Given the description of an element on the screen output the (x, y) to click on. 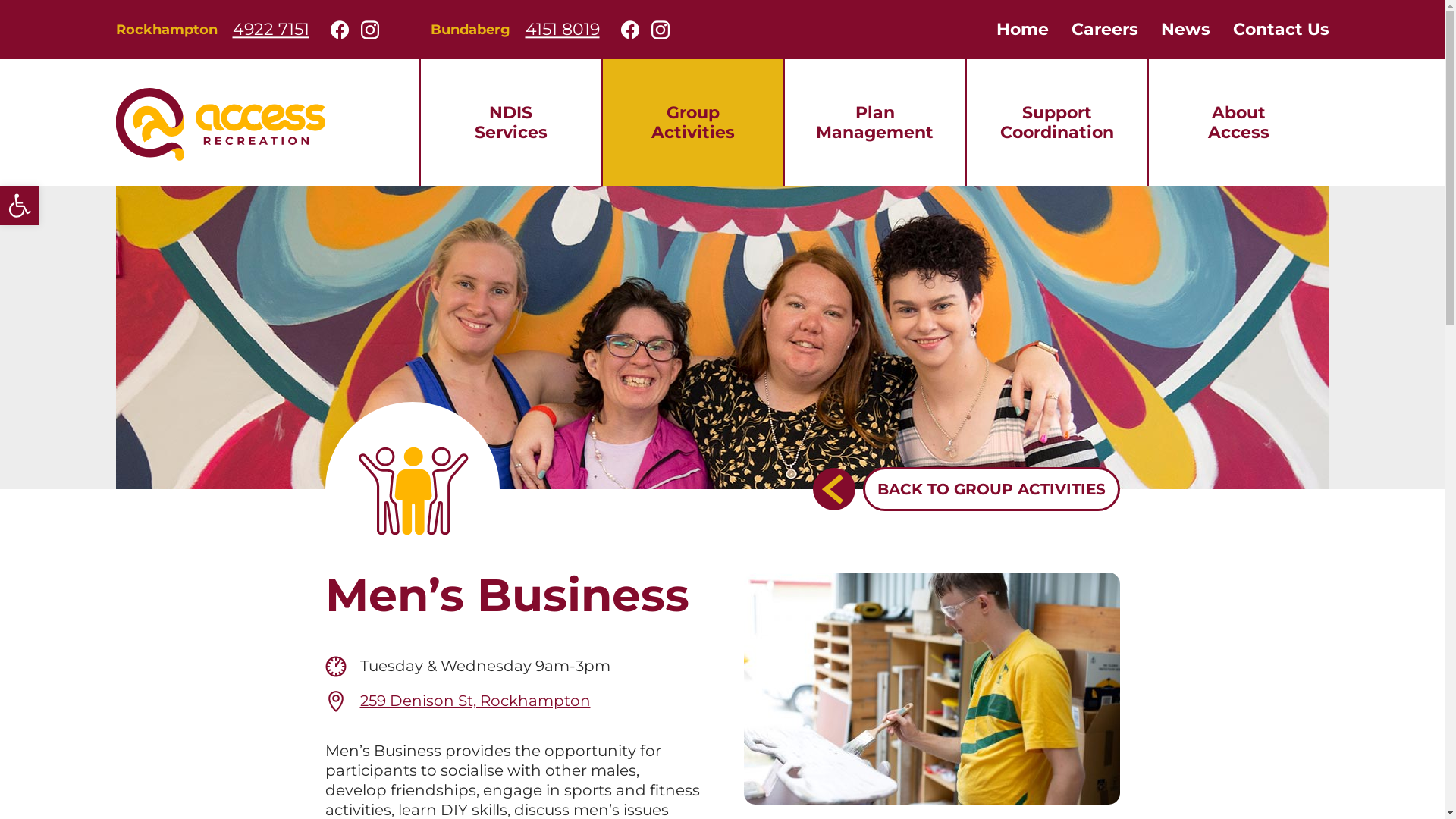
4151 8019 Element type: text (561, 30)
NDIS
Services Element type: text (509, 122)
Support
Coordination Element type: text (1055, 122)
4922 7151 Element type: text (270, 30)
Careers Element type: text (1104, 29)
Plan
Management Element type: text (873, 122)
News Element type: text (1185, 29)
About
Access Element type: text (1237, 122)
259 Denison St, Rockhampton Element type: text (474, 700)
Open toolbar
Accessibility Tools Element type: text (19, 205)
Contact Us Element type: text (1279, 29)
BACK TO GROUP ACTIVITIES Element type: text (966, 489)
Group
Activities Element type: text (691, 122)
Home Element type: text (1021, 29)
